Given the description of an element on the screen output the (x, y) to click on. 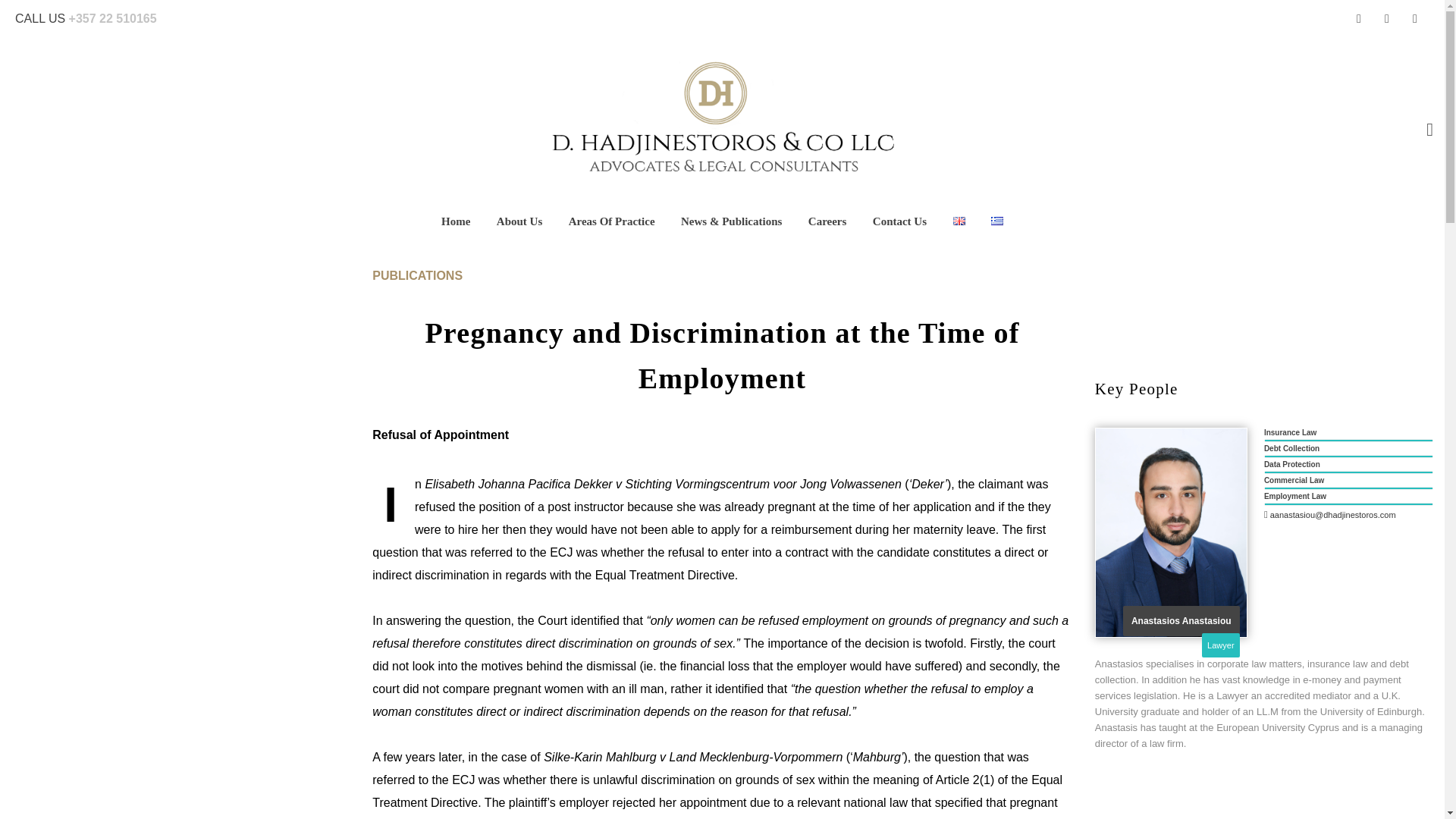
Home (455, 226)
Areas Of Practice (611, 226)
About Us (518, 226)
